Given the description of an element on the screen output the (x, y) to click on. 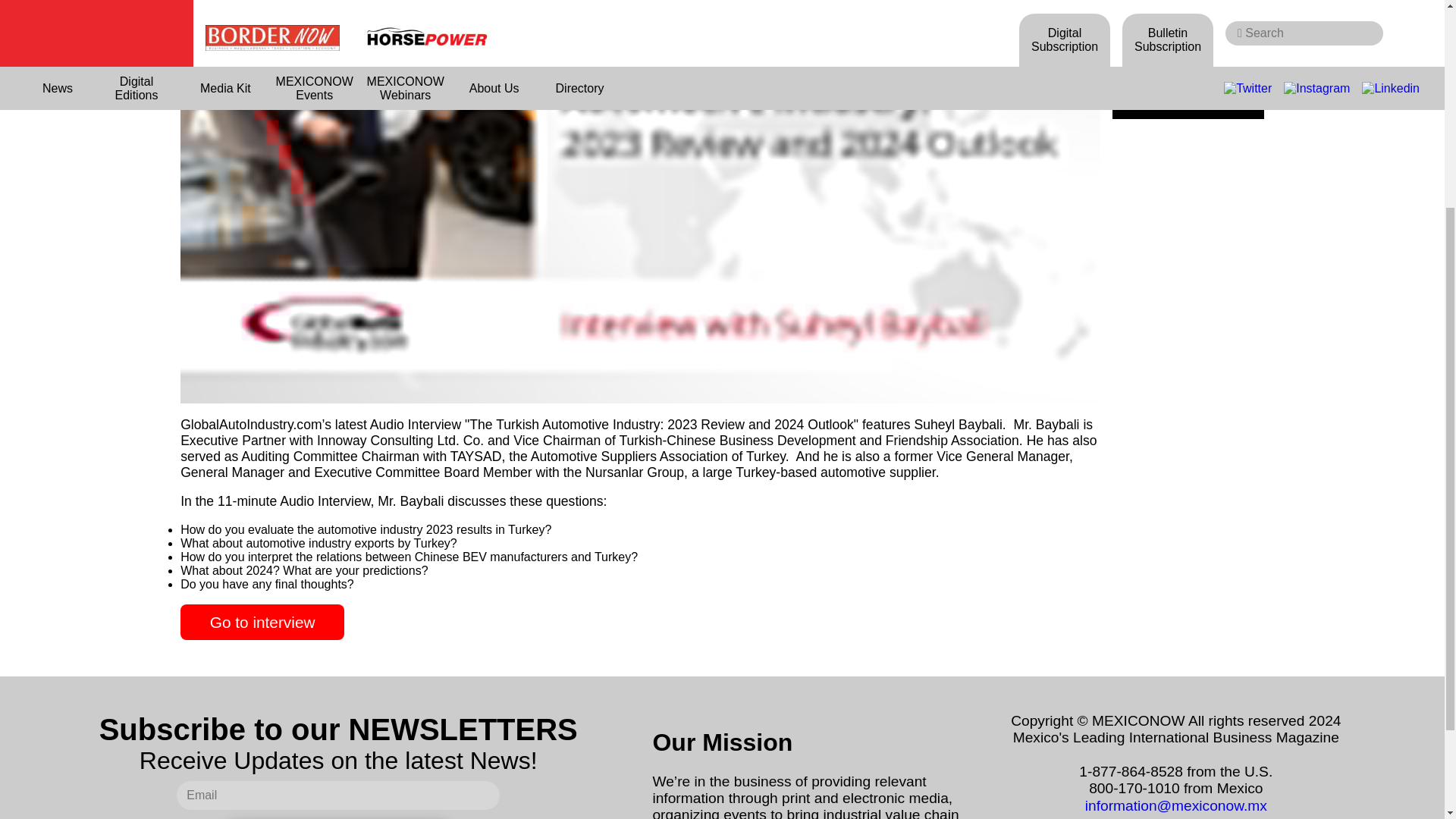
Go to interview (261, 621)
